Given the description of an element on the screen output the (x, y) to click on. 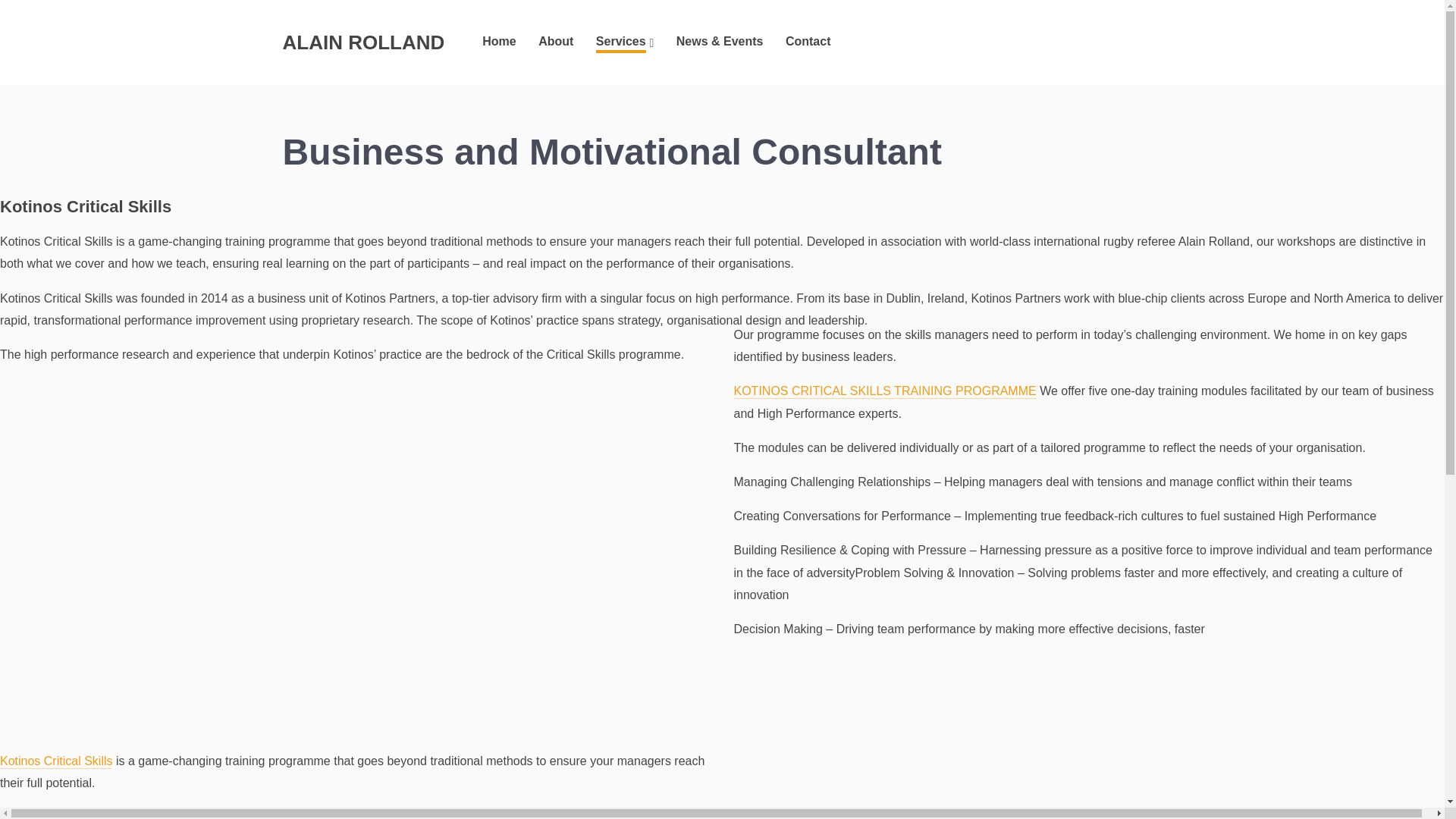
Kotinos Critical Skills (56, 814)
KOTINOS CRITICAL SKILLS TRAINING PROGRAMME (884, 391)
Kotinos Critical Skills (56, 761)
ALAIN ROLLAND (363, 42)
